Given the description of an element on the screen output the (x, y) to click on. 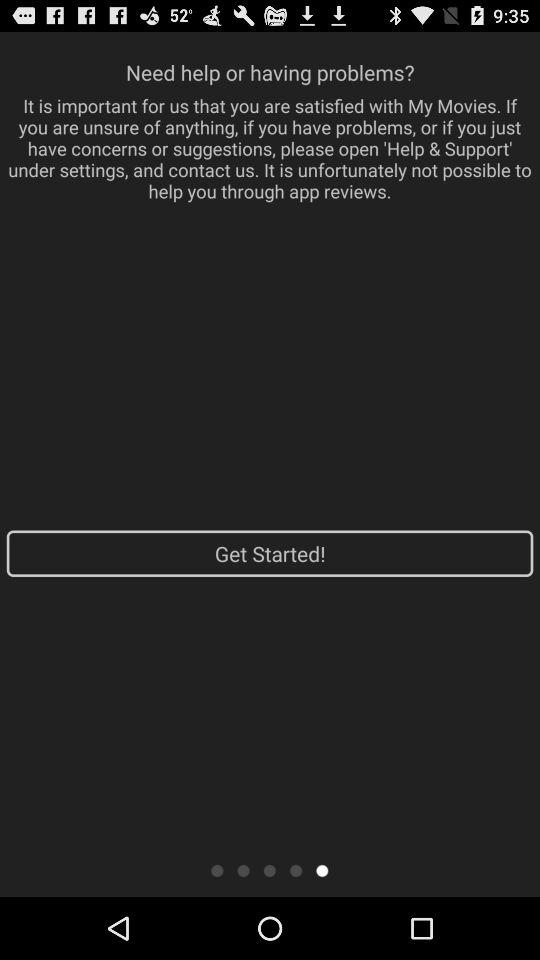
tap the get started! app (269, 553)
